Given the description of an element on the screen output the (x, y) to click on. 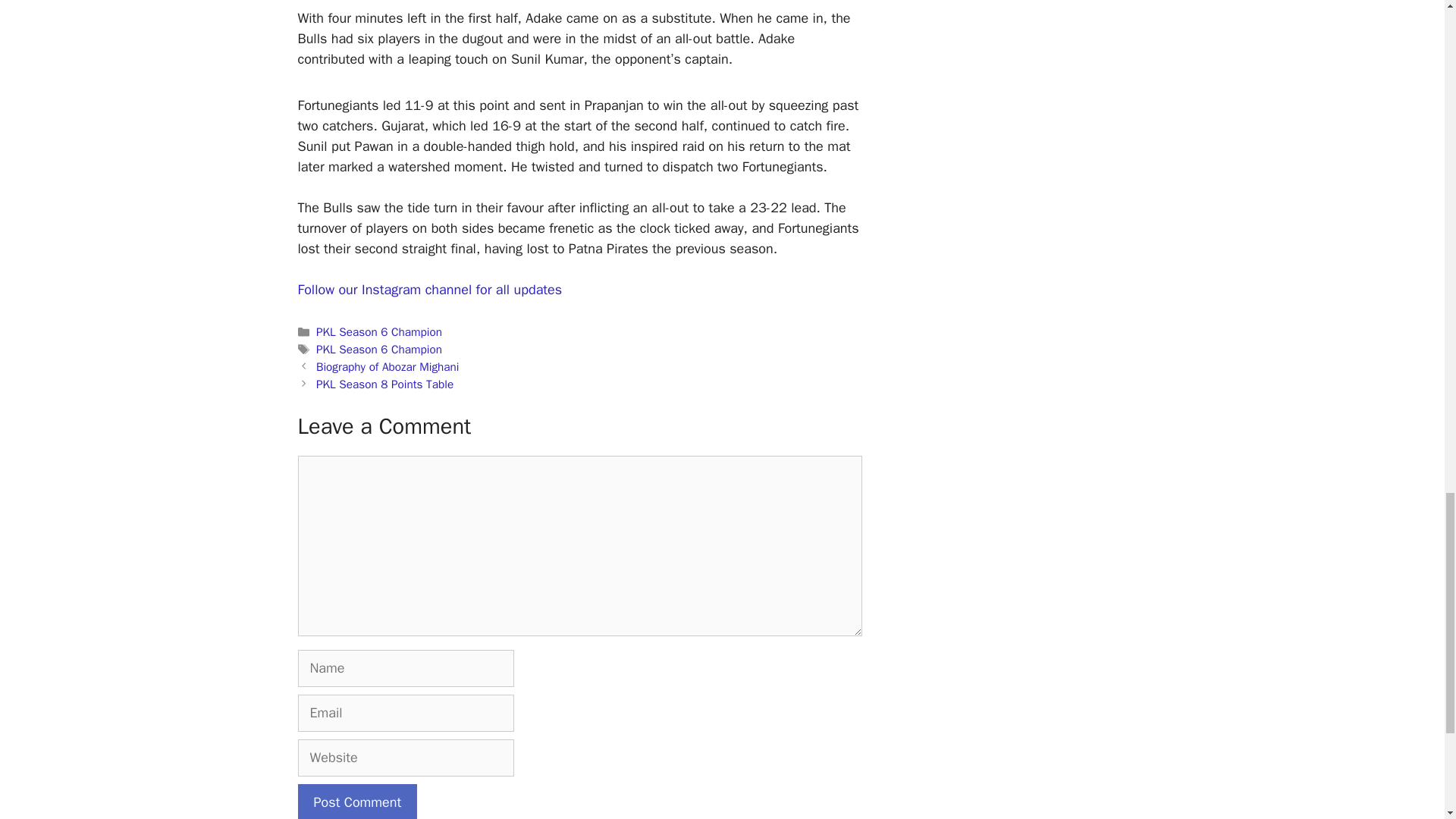
Post Comment (356, 801)
PKL Season 8 Points Table (383, 384)
Follow our Instagram channel for all updates (429, 289)
PKL Season 6 Champion (378, 331)
PKL Season 6 Champion (378, 349)
Post Comment (356, 801)
Biography of Abozar Mighani (387, 366)
